Given the description of an element on the screen output the (x, y) to click on. 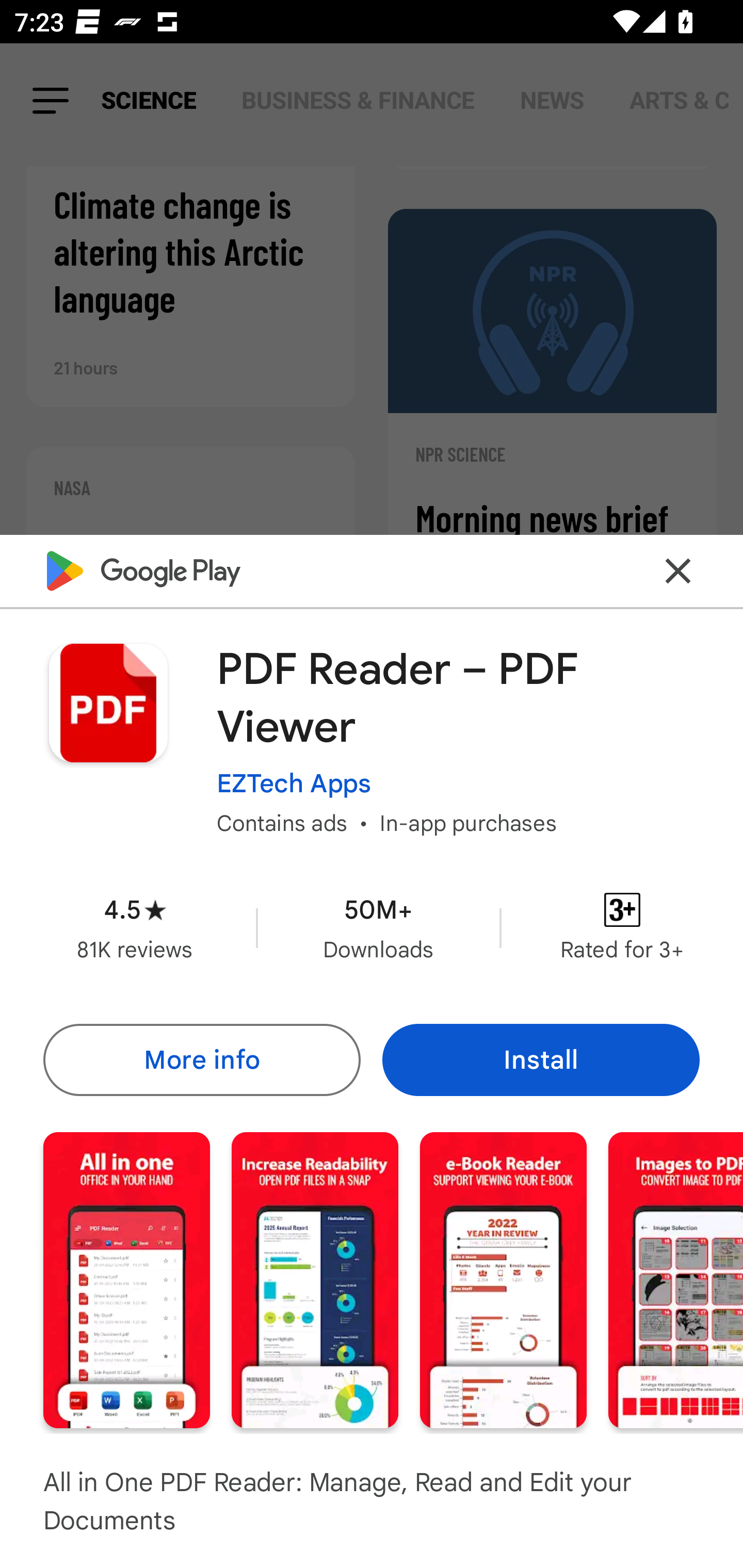
Close (677, 570)
EZTech Apps (293, 782)
More info (201, 1059)
Install (540, 1059)
Screenshot "1" of "7" (126, 1280)
Screenshot "2" of "7" (314, 1280)
Screenshot "3" of "7" (502, 1280)
Screenshot "4" of "7" (675, 1280)
